Given the description of an element on the screen output the (x, y) to click on. 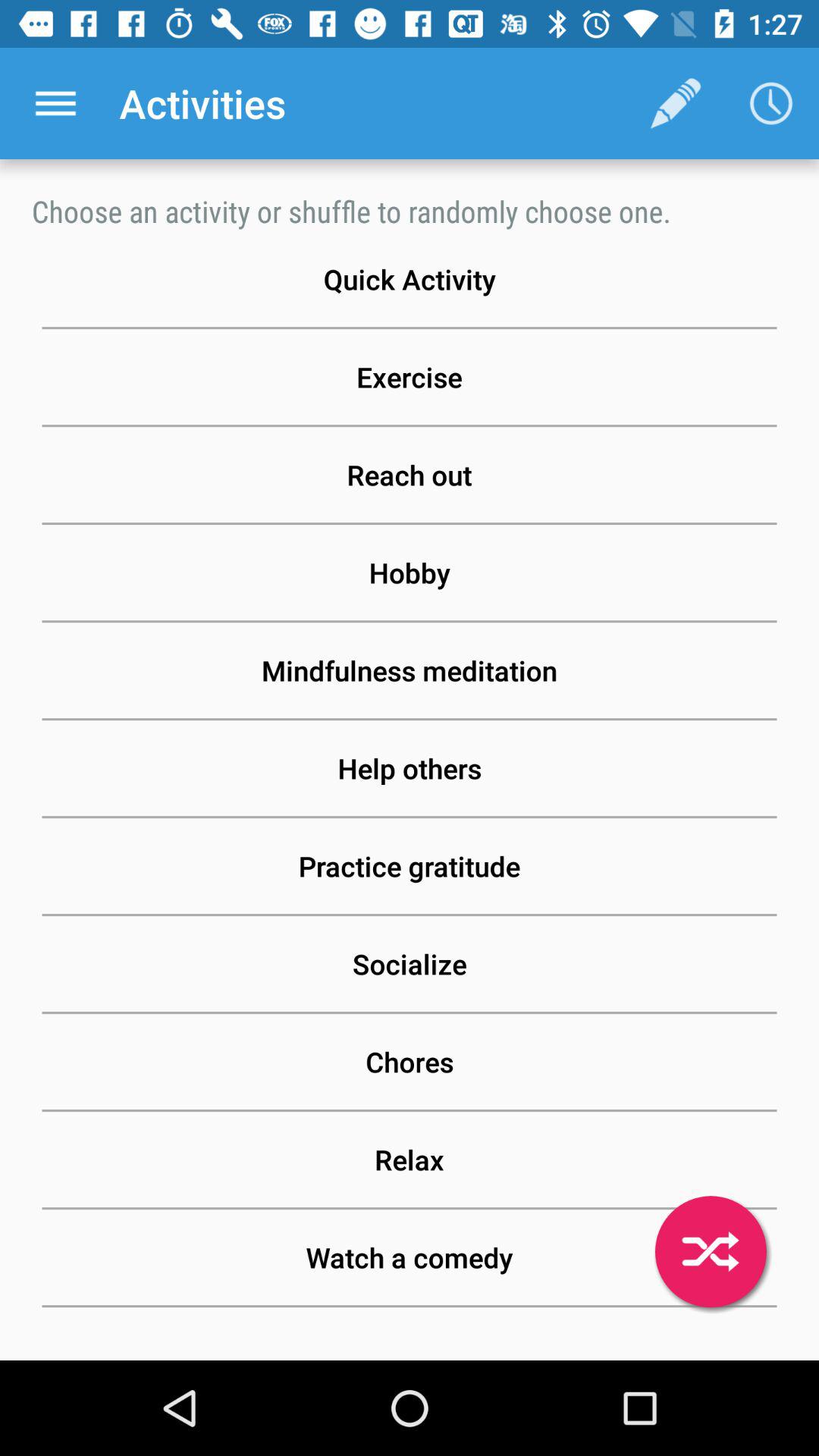
swipe to socialize icon (409, 963)
